Given the description of an element on the screen output the (x, y) to click on. 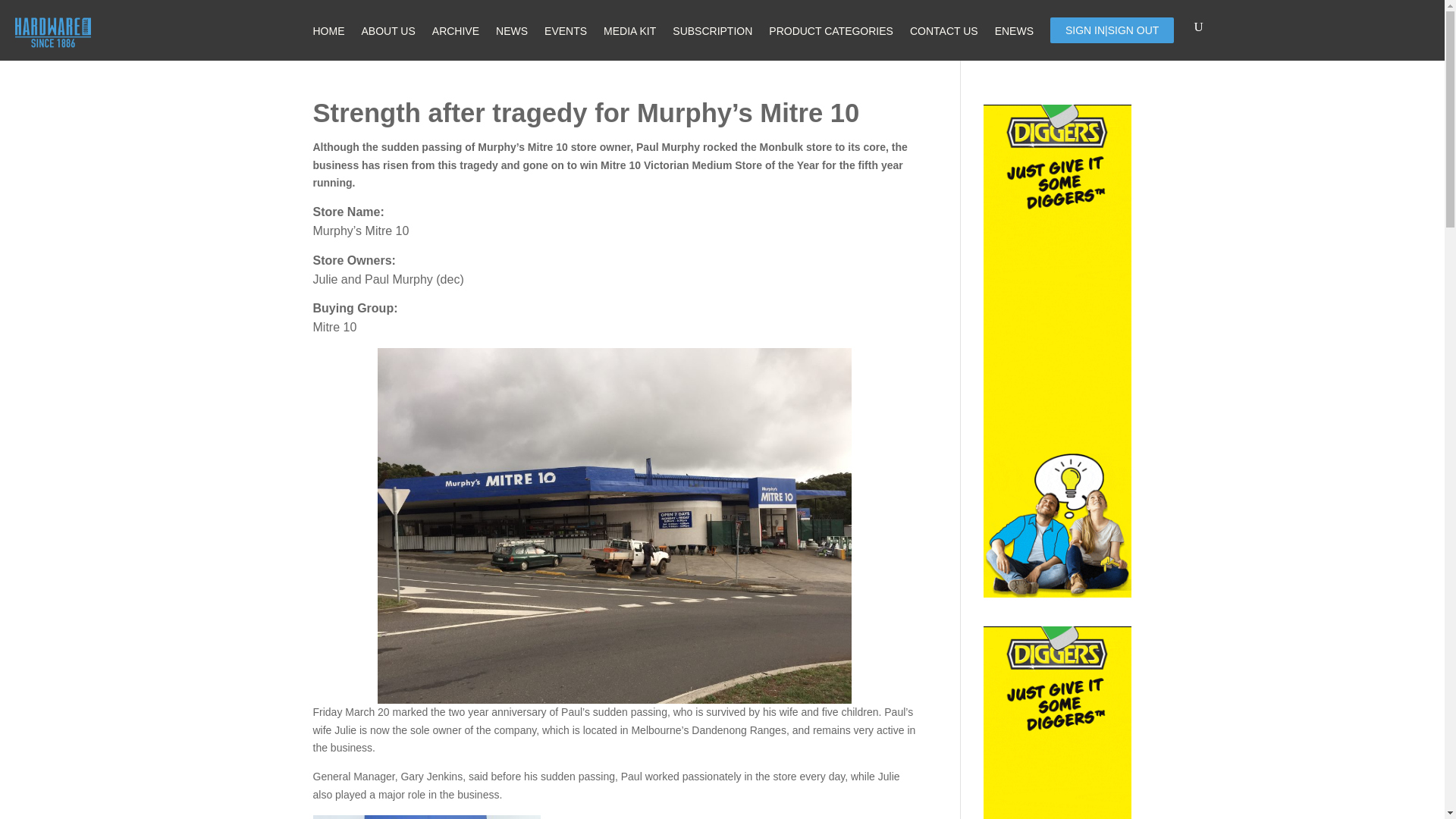
MEDIA KIT (630, 29)
PRODUCT CATEGORIES (830, 29)
SUBSCRIPTION (712, 29)
CONTACT US (944, 29)
NEWS (511, 29)
EVENTS (565, 29)
ARCHIVE (455, 29)
ABOUT US (387, 29)
ENEWS (1013, 29)
HOME (328, 29)
